Given the description of an element on the screen output the (x, y) to click on. 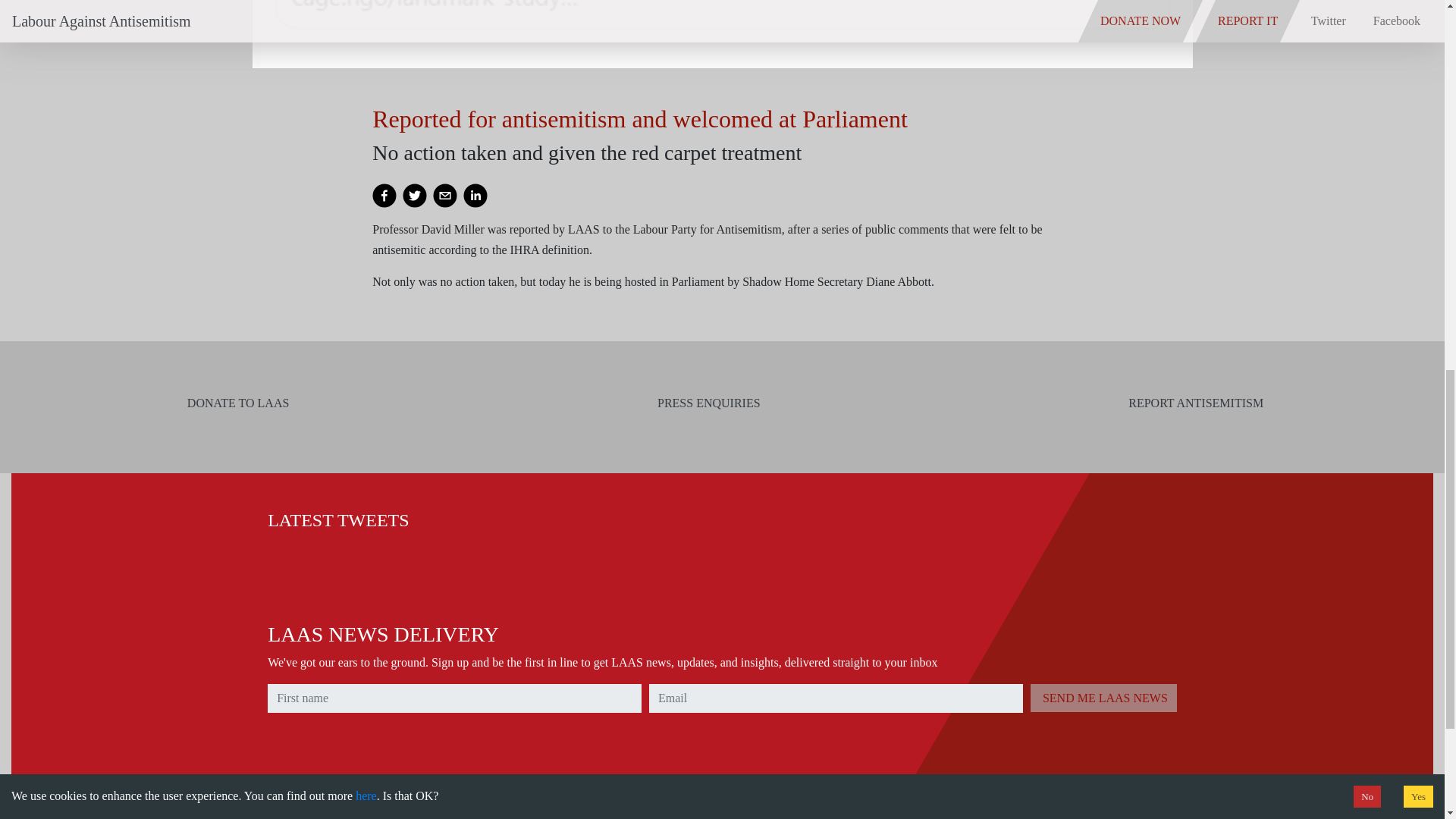
SEND ME LAAS NEWS (1103, 697)
REPORT ANTISEMITISM (1192, 402)
DONATE TO LAAS (234, 402)
PRESS ENQUIRIES (705, 402)
